Given the description of an element on the screen output the (x, y) to click on. 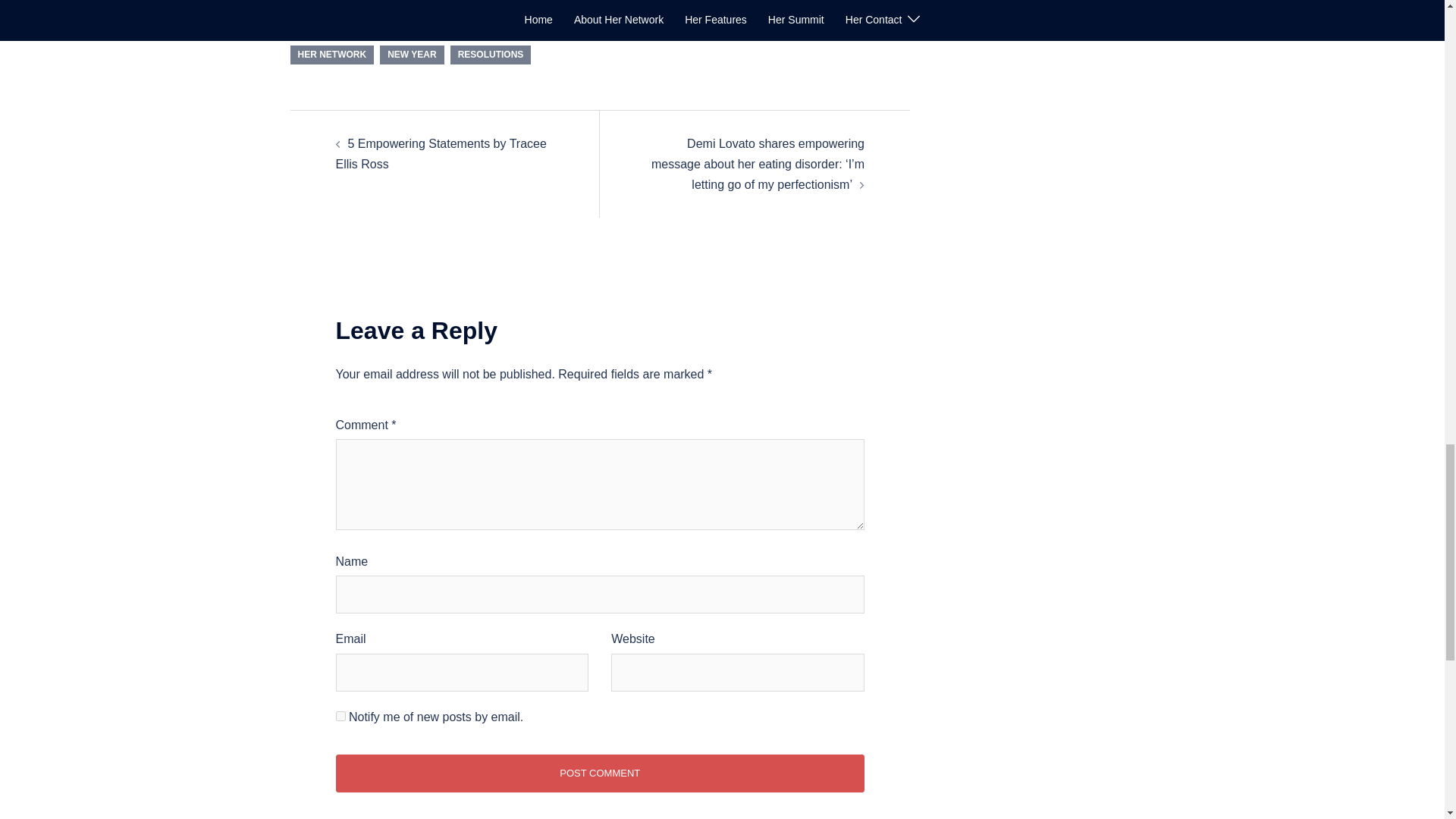
RESOLUTIONS (490, 54)
10 inspiring messages to keep you motivated and hopeful! (370, 4)
Tips To Help You Achieve Your Goals Before The End of 2017. (581, 4)
10 inspiring messages to keep you motivated and hopeful! (370, 4)
subscribe (339, 716)
5 Times Sarah Sapora Motivated Us to Rise Up! (789, 4)
5 Times Sarah Sapora Motivated Us to Rise Up! (789, 4)
Post Comment (599, 773)
HER NETWORK (331, 54)
NEW YEAR (412, 54)
Tips To Help You Achieve Your Goals Before The End of  2017. (581, 4)
